Given the description of an element on the screen output the (x, y) to click on. 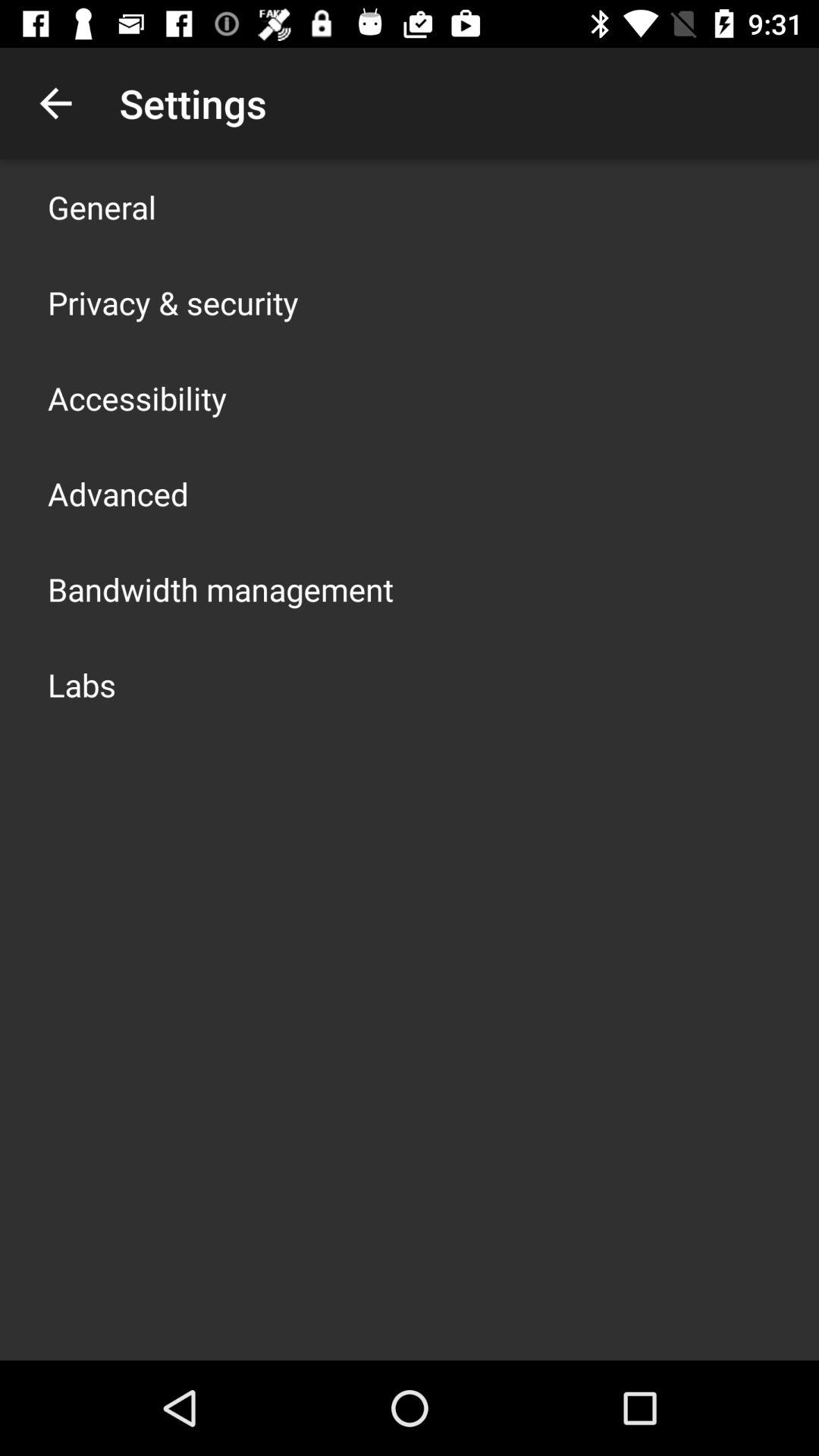
press privacy & security icon (172, 302)
